Given the description of an element on the screen output the (x, y) to click on. 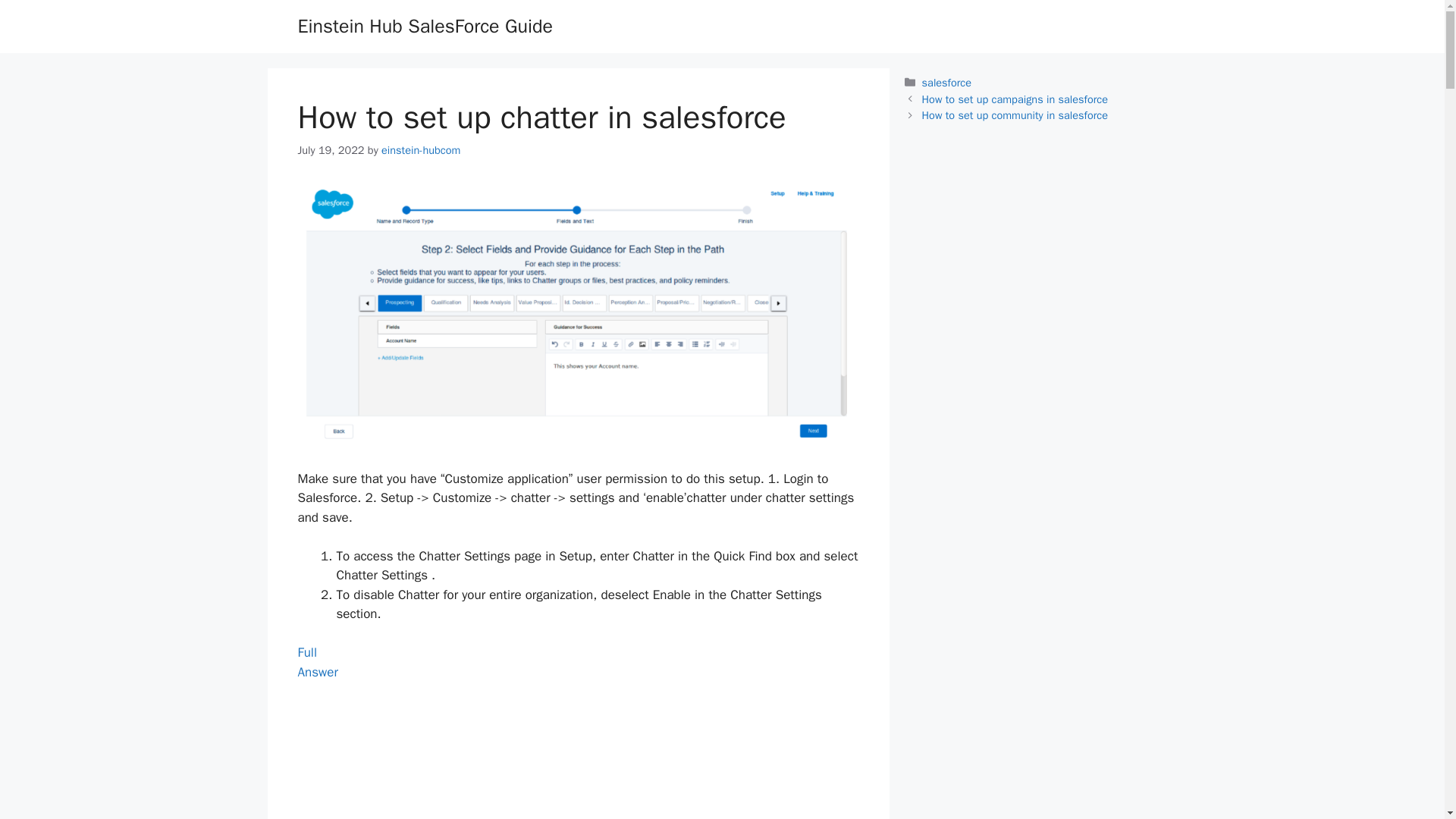
View all posts by einstein-hubcom (420, 150)
Einstein Hub SalesForce Guide (424, 25)
einstein-hubcom (317, 662)
